Given the description of an element on the screen output the (x, y) to click on. 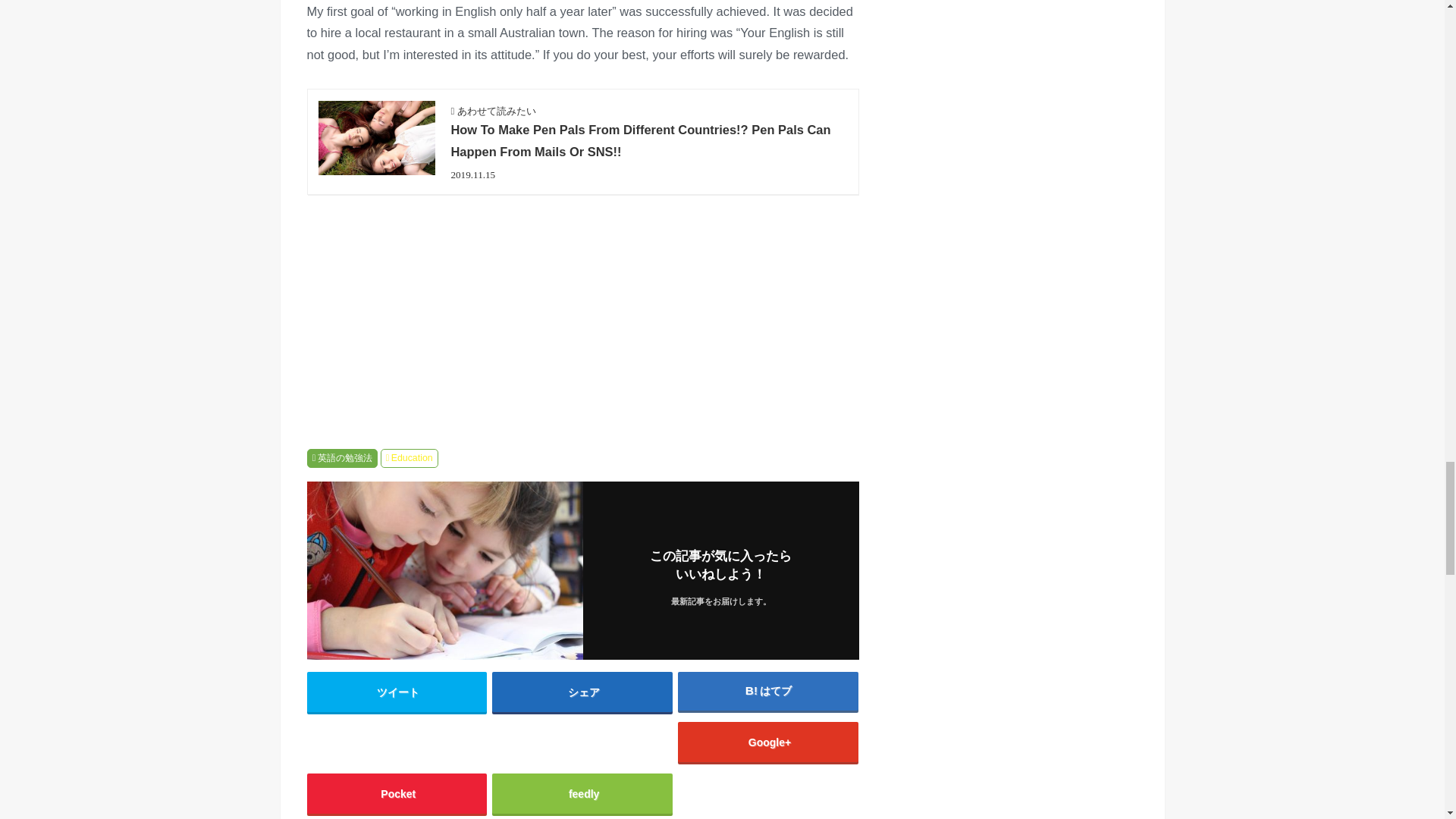
Pocket (395, 793)
Education (409, 457)
